Given the description of an element on the screen output the (x, y) to click on. 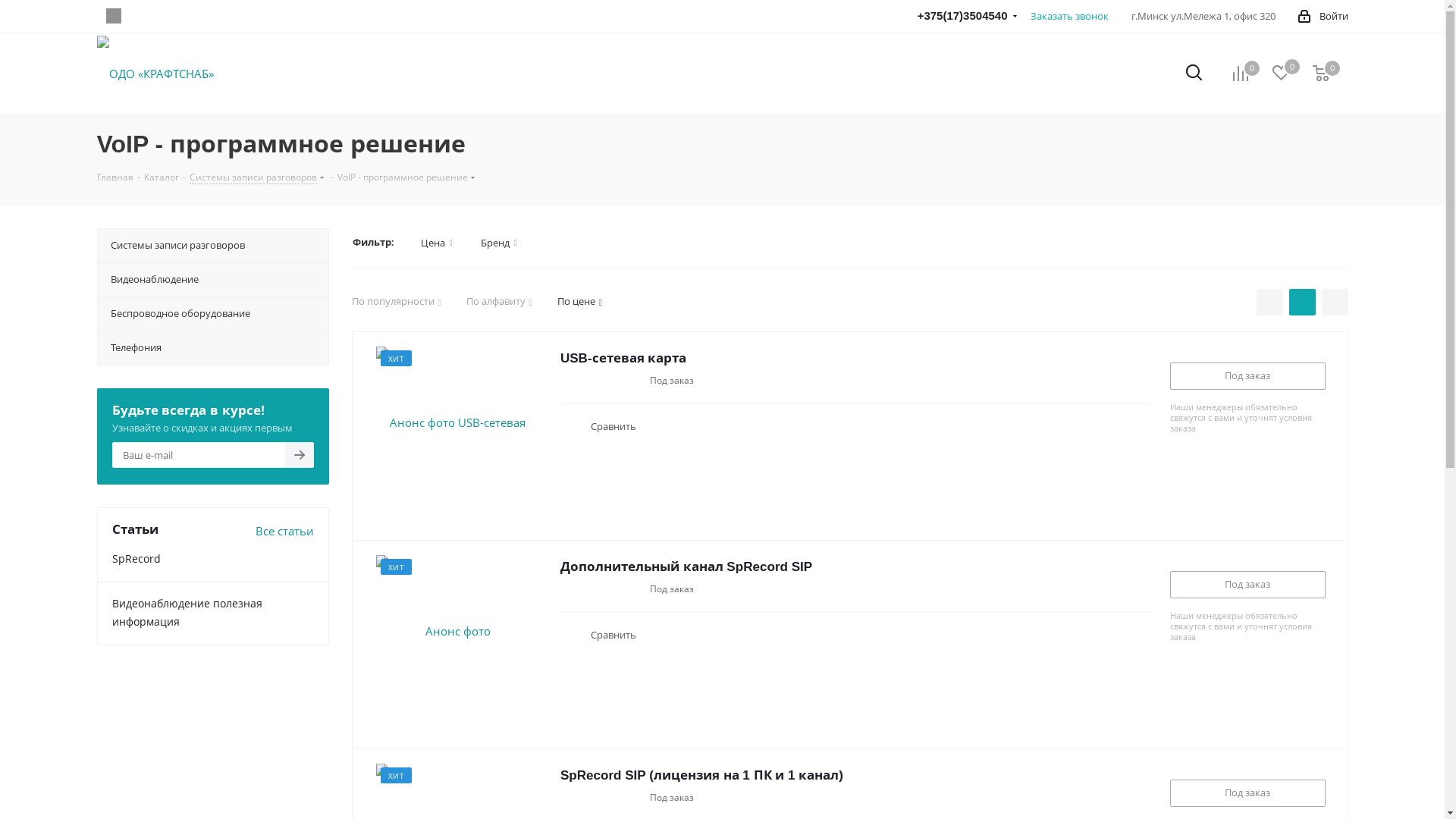
4 Element type: hover (599, 797)
2 Element type: hover (577, 588)
5 Element type: hover (611, 797)
5 Element type: hover (611, 380)
4 Element type: hover (599, 588)
2 Element type: hover (577, 797)
3 Element type: hover (588, 797)
1 Element type: hover (565, 380)
1 Element type: hover (565, 588)
1 Element type: hover (565, 797)
2 Element type: hover (577, 380)
5 Element type: hover (611, 588)
3 Element type: hover (588, 380)
3 Element type: hover (588, 588)
SpRecord Element type: text (136, 558)
4 Element type: hover (599, 380)
